Given the description of an element on the screen output the (x, y) to click on. 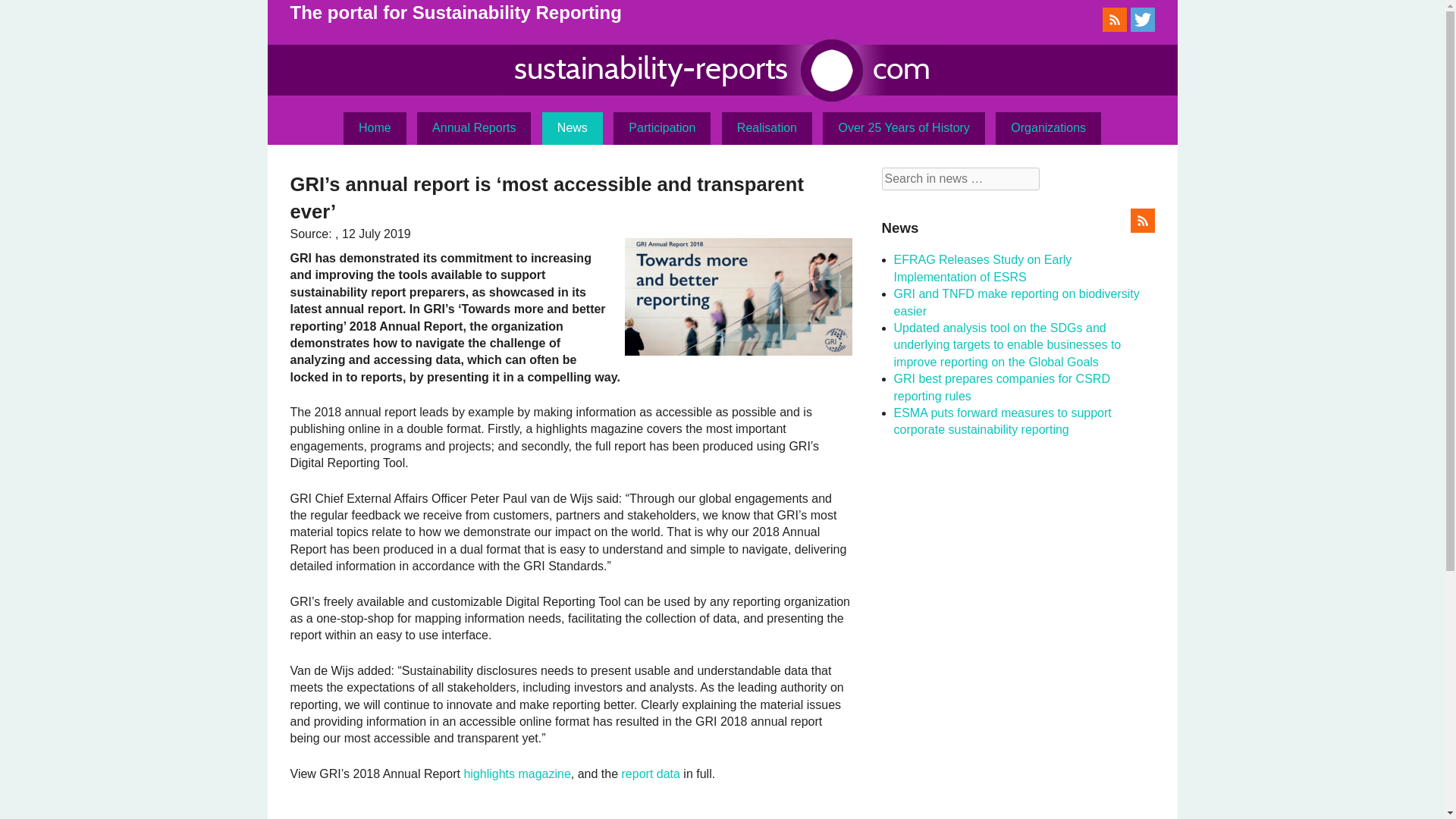
EFRAG Releases Study on Early Implementation of ESRS (982, 267)
Over 25 Years of History (903, 128)
Participation (661, 128)
Organizations (1047, 128)
RSS feed Nieuws (1141, 228)
Search in news: (959, 178)
News (571, 128)
GRI best prepares companies for CSRD reporting rules (1001, 387)
RSS feed Verslagen (1114, 27)
